Given the description of an element on the screen output the (x, y) to click on. 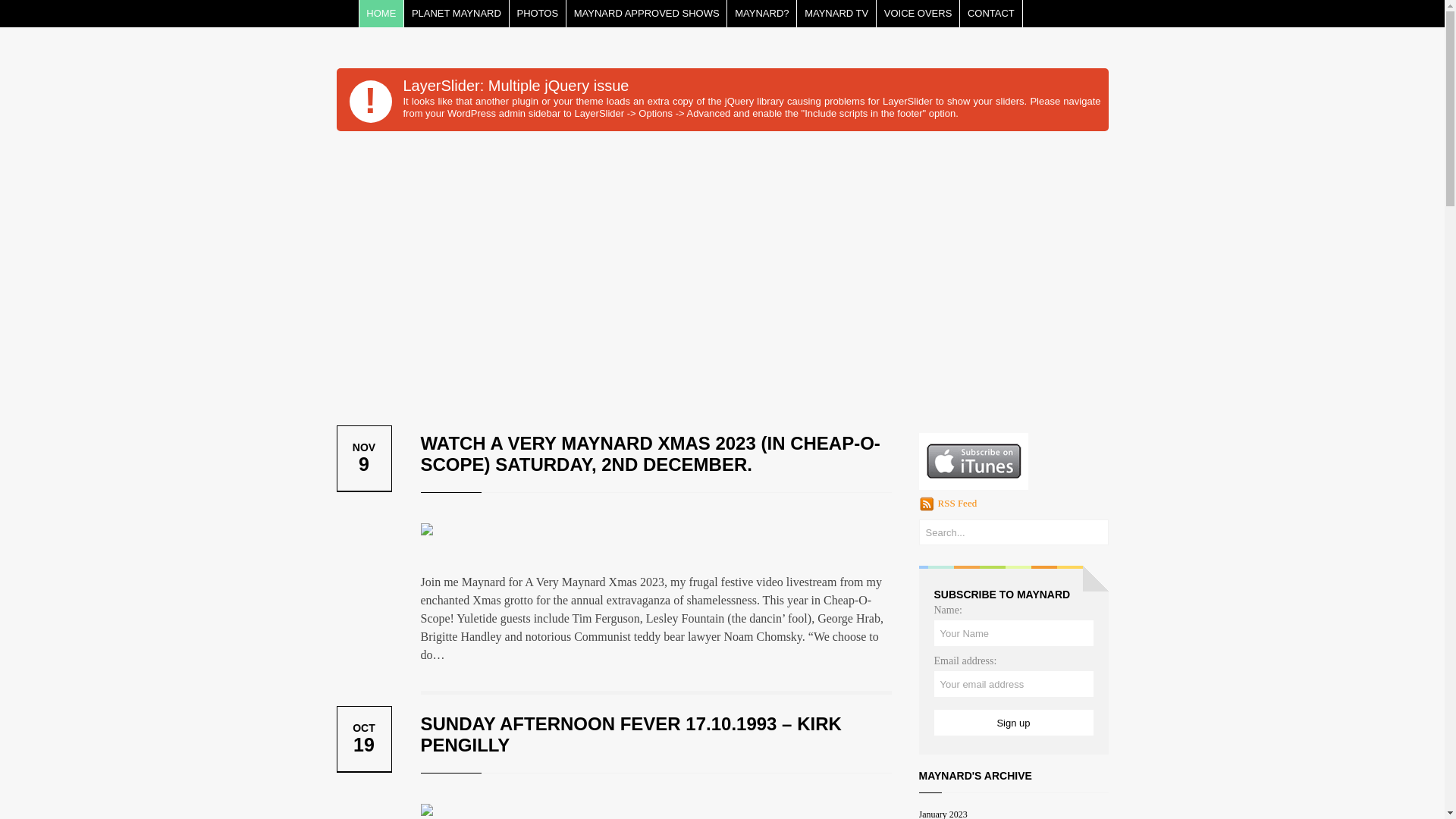
MAYNARD APPROVED SHOWS Element type: text (647, 13)
MAYNARD TV Element type: text (836, 13)
HOME Element type: text (381, 13)
CONTACT Element type: text (991, 13)
MAYNARD? Element type: text (762, 13)
PLANET MAYNARD Element type: text (456, 13)
PHOTOS Element type: text (537, 13)
Sign up Element type: text (1013, 722)
VOICE OVERS Element type: text (918, 13)
RSS Feed Element type: text (956, 502)
